Given the description of an element on the screen output the (x, y) to click on. 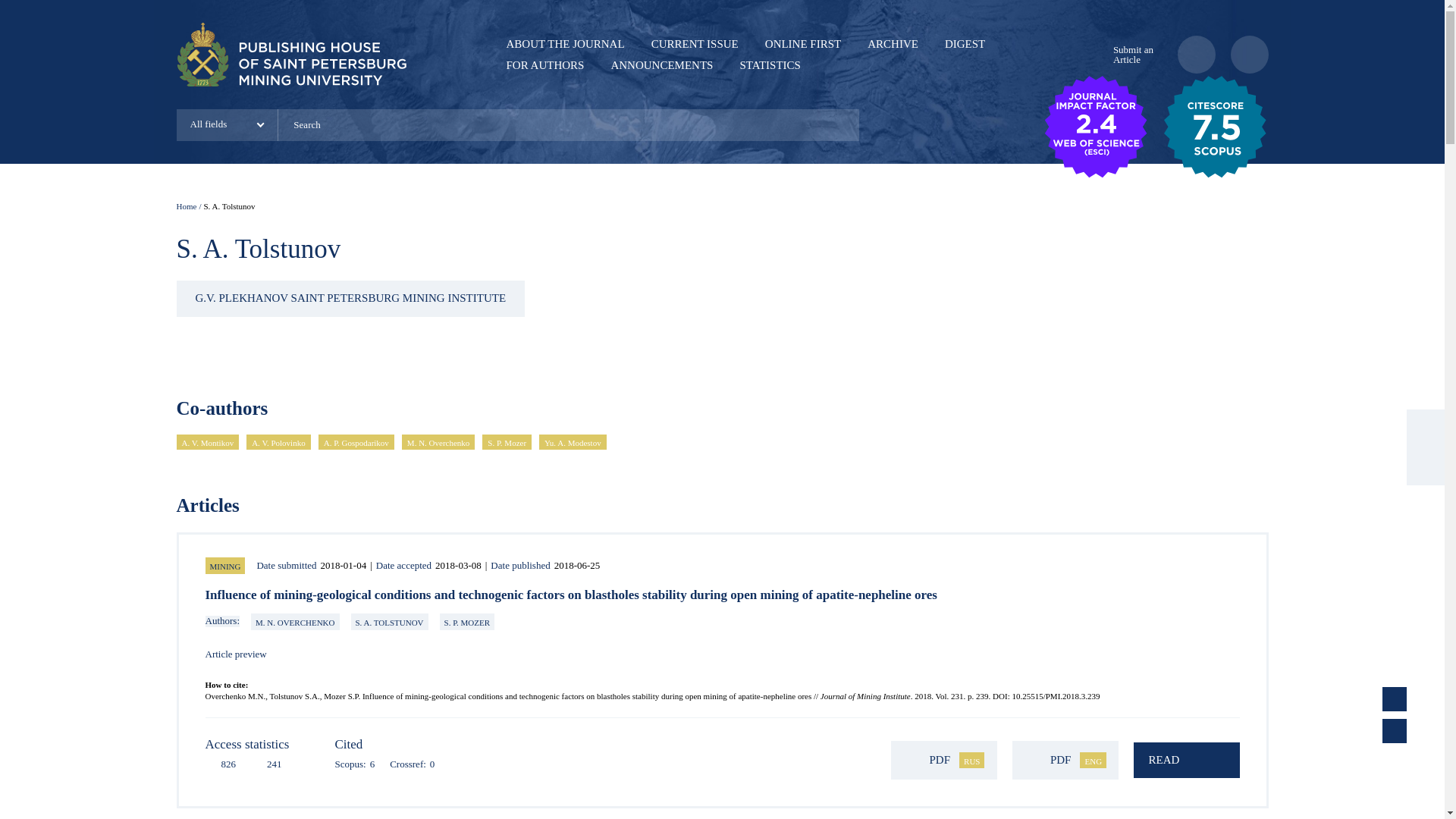
CURRENT ISSUE (694, 43)
Submit an Article (1130, 54)
ARCHIVE (892, 43)
DIGEST (964, 43)
Home (186, 206)
ONLINE FIRST (803, 43)
A. V. Montikov (207, 441)
FOR AUTHORS (545, 64)
ABOUT THE JOURNAL (565, 43)
ANNOUNCEMENTS (661, 64)
A. V. Polovinko (278, 441)
STATISTICS (769, 64)
S. A. Tolstunov (228, 206)
